Given the description of an element on the screen output the (x, y) to click on. 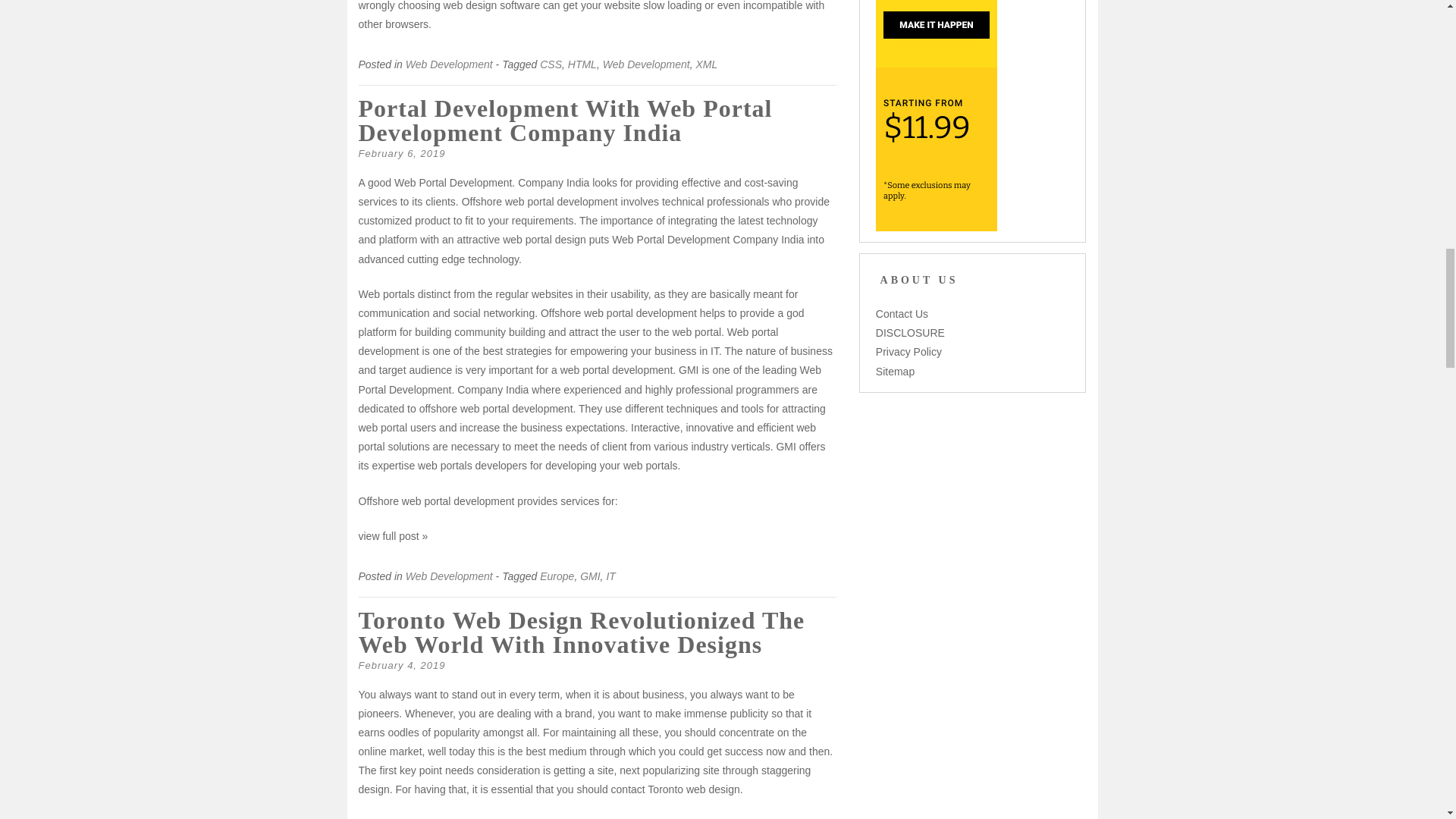
XML (706, 64)
Portal Development With Web Portal Development Company India (564, 120)
February 6, 2019 (401, 153)
Web Development (449, 576)
HTML (581, 64)
CSS (551, 64)
Web Development (646, 64)
Web Development (449, 64)
Europe (556, 576)
